Given the description of an element on the screen output the (x, y) to click on. 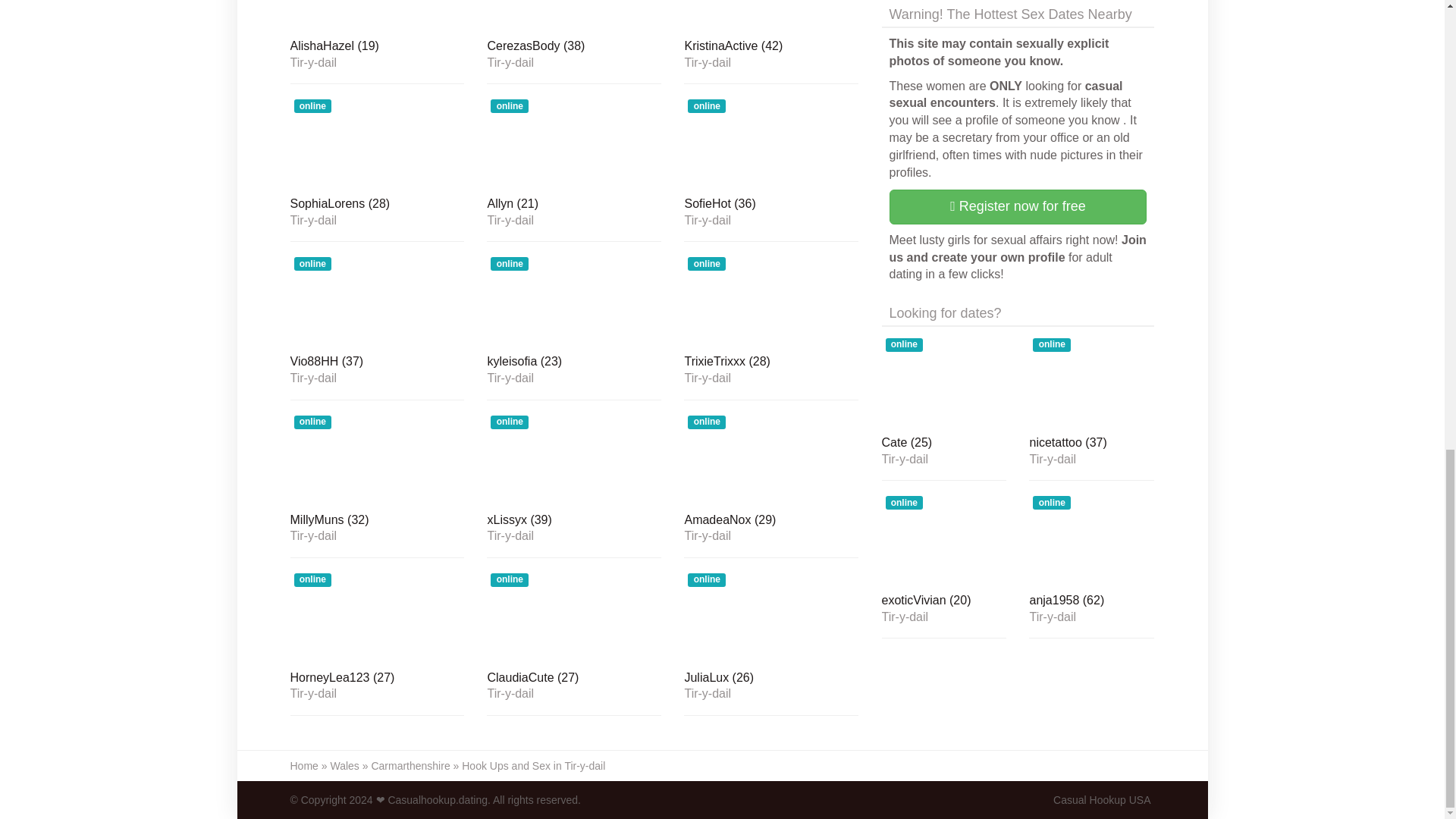
Date CerezasBody now! (573, 47)
Tir-y-dail (376, 220)
Date AlishaHazel now! (376, 47)
Tir-y-dail (573, 62)
online (573, 142)
Date AlishaHazel now! (376, 15)
online (376, 15)
Tir-y-dail (376, 62)
online (376, 142)
online (771, 15)
